Given the description of an element on the screen output the (x, y) to click on. 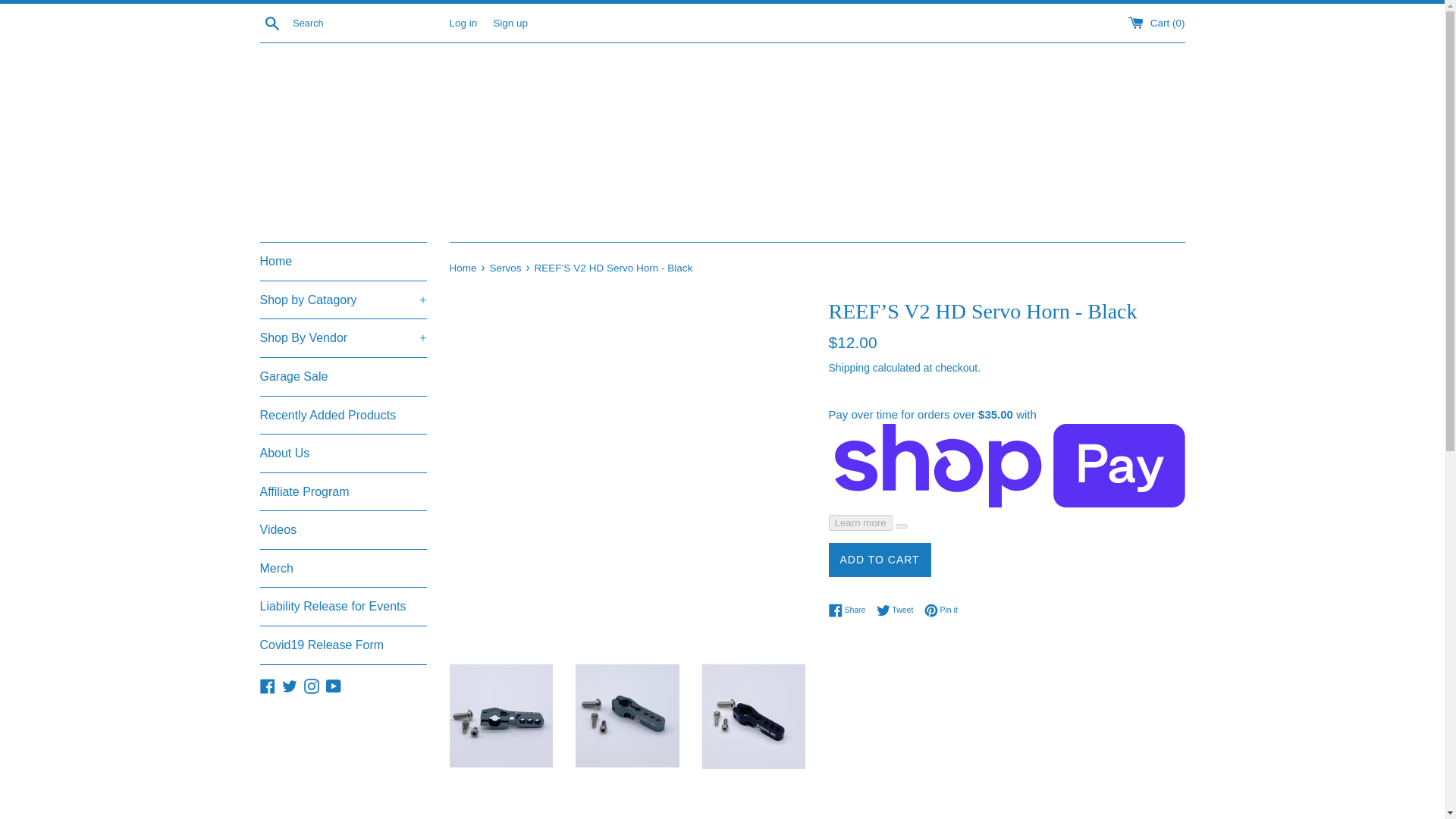
RC Addict on YouTube (333, 684)
Back to the frontpage (463, 267)
Sign up (510, 21)
Home (342, 261)
Tweet on Twitter (898, 610)
Share on Facebook (850, 610)
Log in (462, 21)
RC Addict on Twitter (289, 684)
RC Addict on Facebook (267, 684)
Pin on Pinterest (941, 610)
RC Addict on Instagram (311, 684)
Search (271, 21)
